Given the description of an element on the screen output the (x, y) to click on. 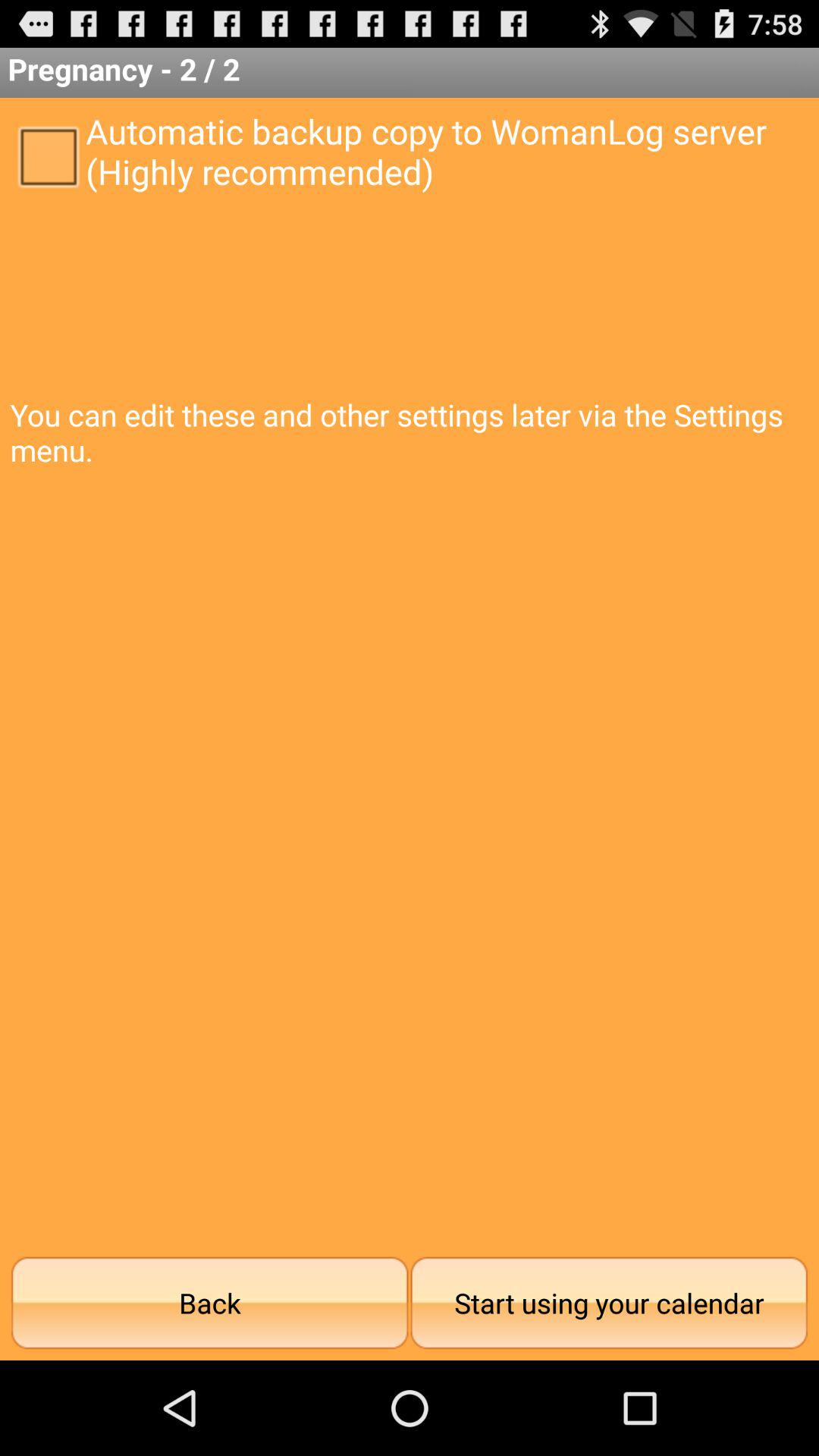
tap the item next to automatic backup copy item (47, 155)
